Given the description of an element on the screen output the (x, y) to click on. 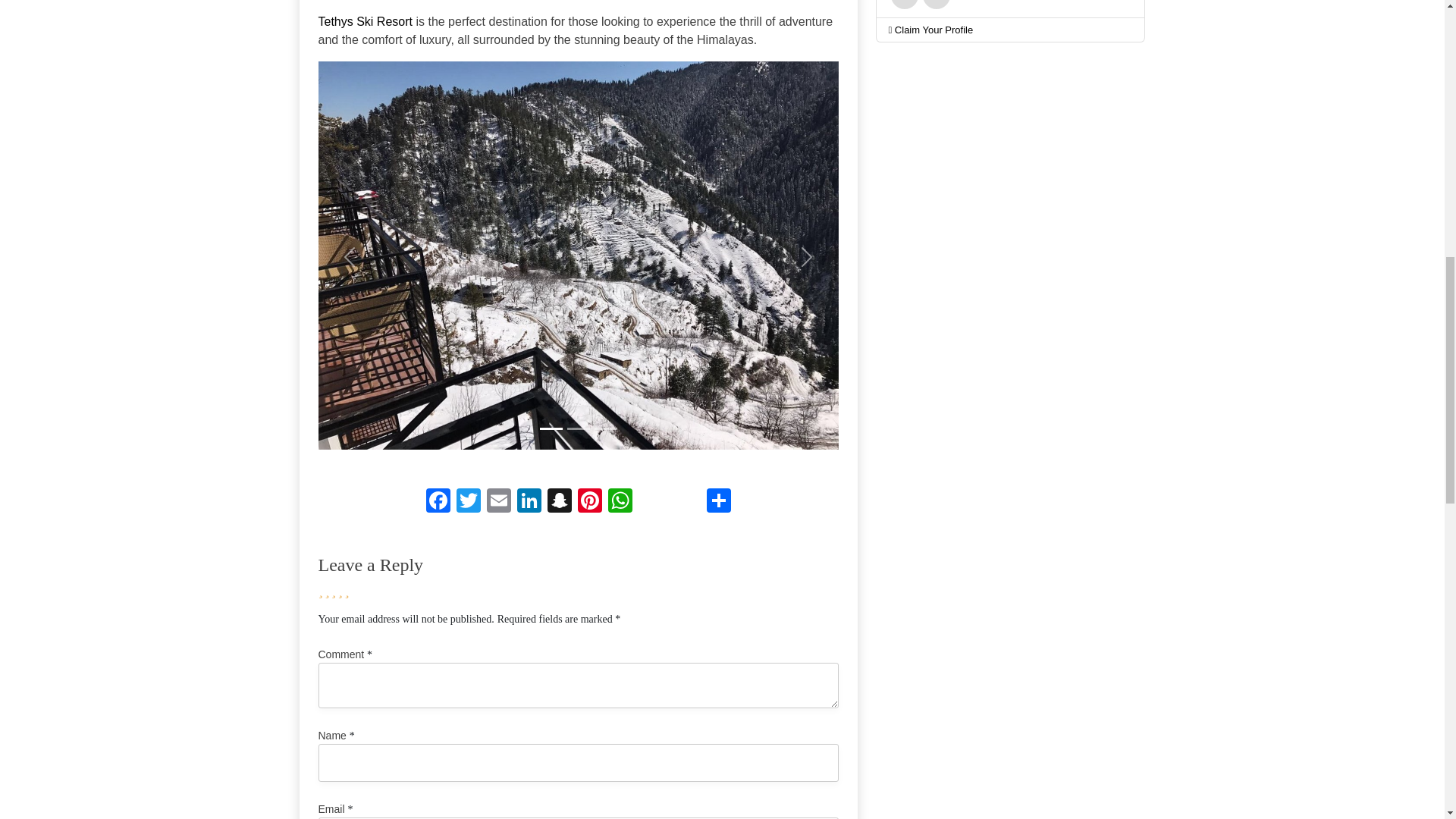
Snapchat (559, 500)
LinkedIn (528, 500)
Twitter (467, 500)
Email (498, 500)
WhatsApp (619, 500)
Pinterest (590, 500)
Facebook (437, 500)
